Given the description of an element on the screen output the (x, y) to click on. 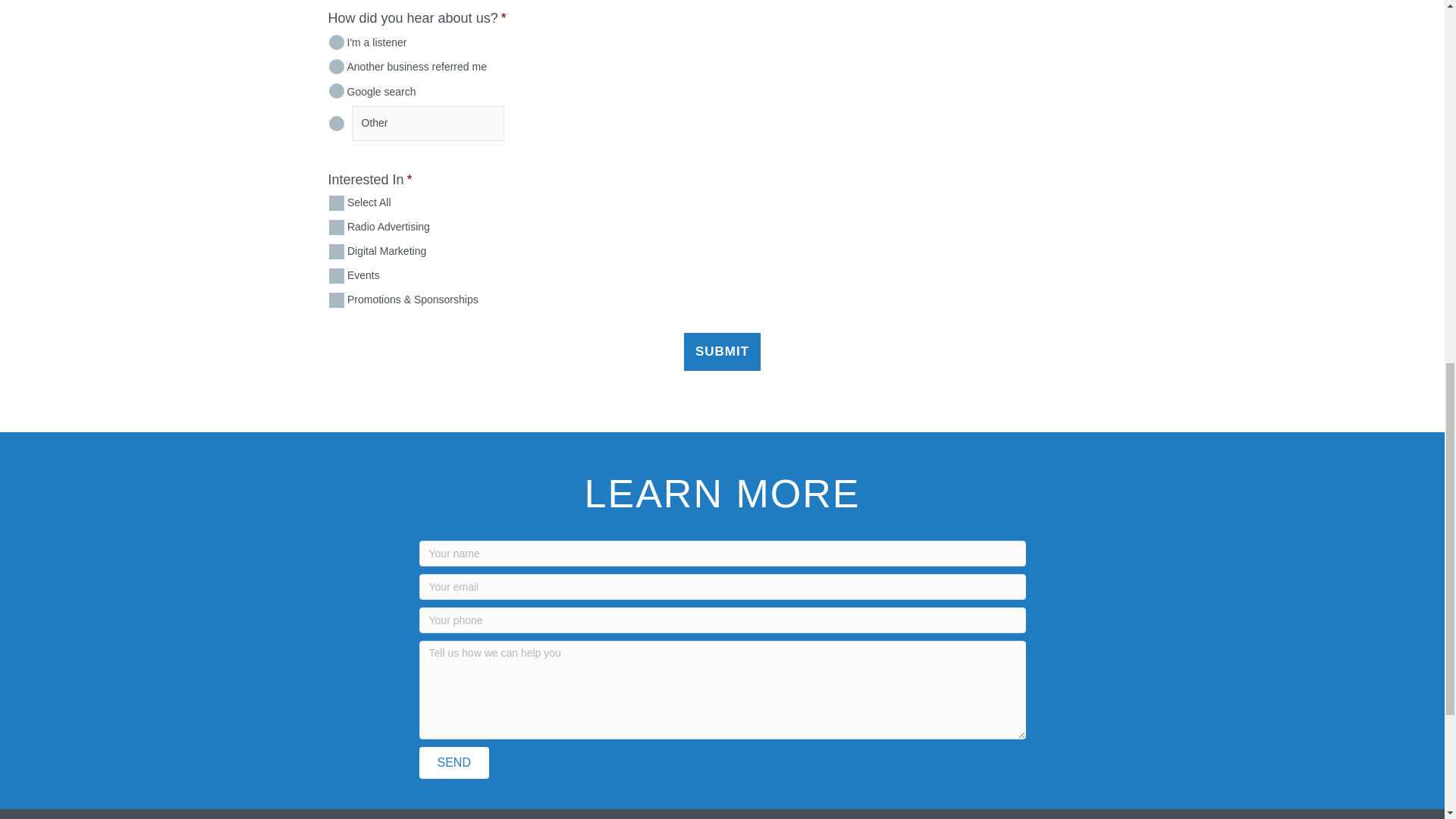
I'm a listener (336, 42)
Google search (336, 90)
Digital Marketing (336, 251)
SEND (453, 762)
Another business referred me (336, 66)
on (336, 202)
Other (427, 123)
Submit (722, 351)
Events (336, 275)
Radio Advertising (336, 227)
Submit (722, 351)
